Given the description of an element on the screen output the (x, y) to click on. 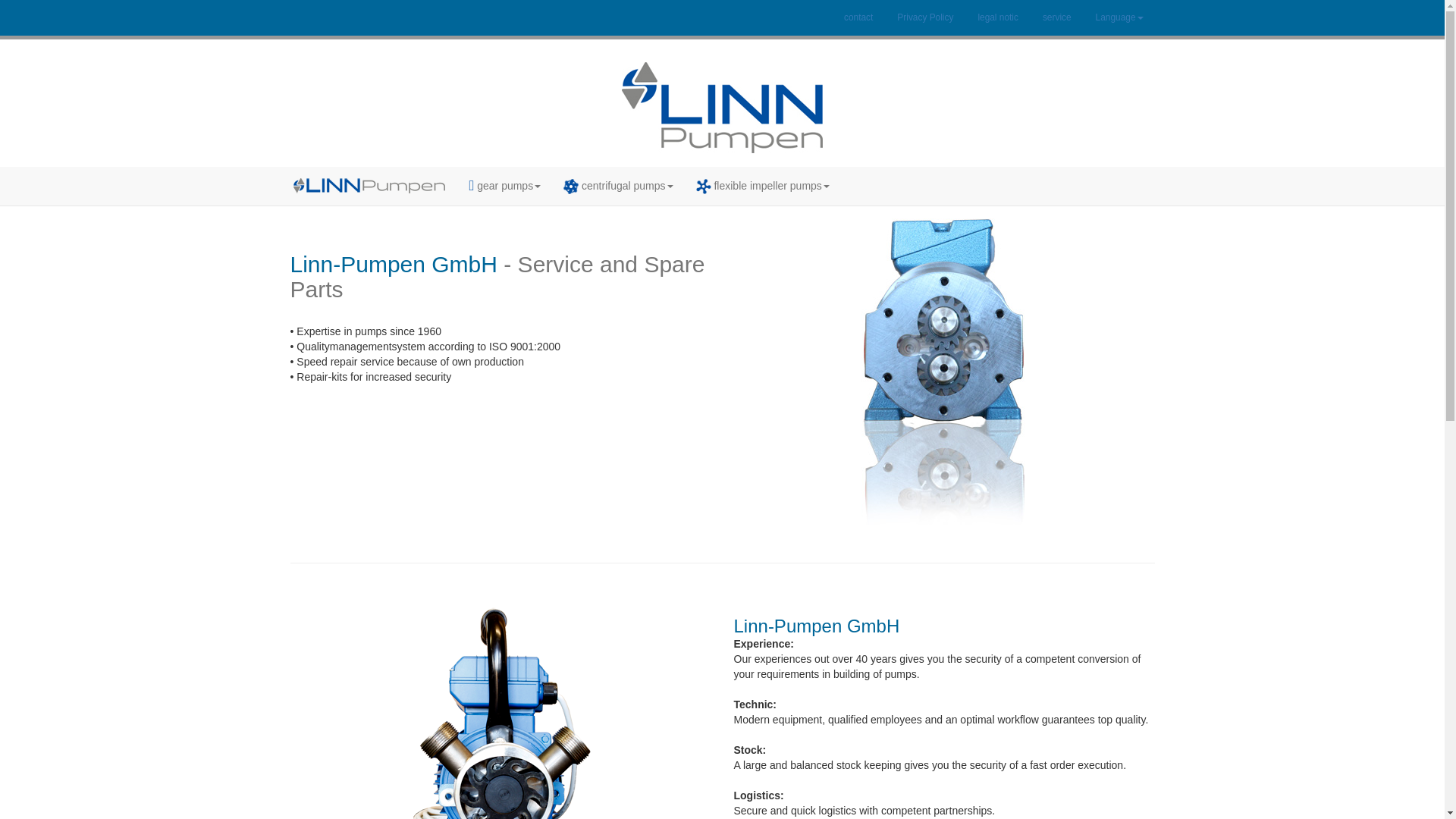
centrifugal pumps (617, 186)
service (1056, 18)
legal notic (997, 18)
Language (1119, 18)
Privacy Policy (924, 18)
gear pumps (505, 185)
contact (857, 18)
